Given the description of an element on the screen output the (x, y) to click on. 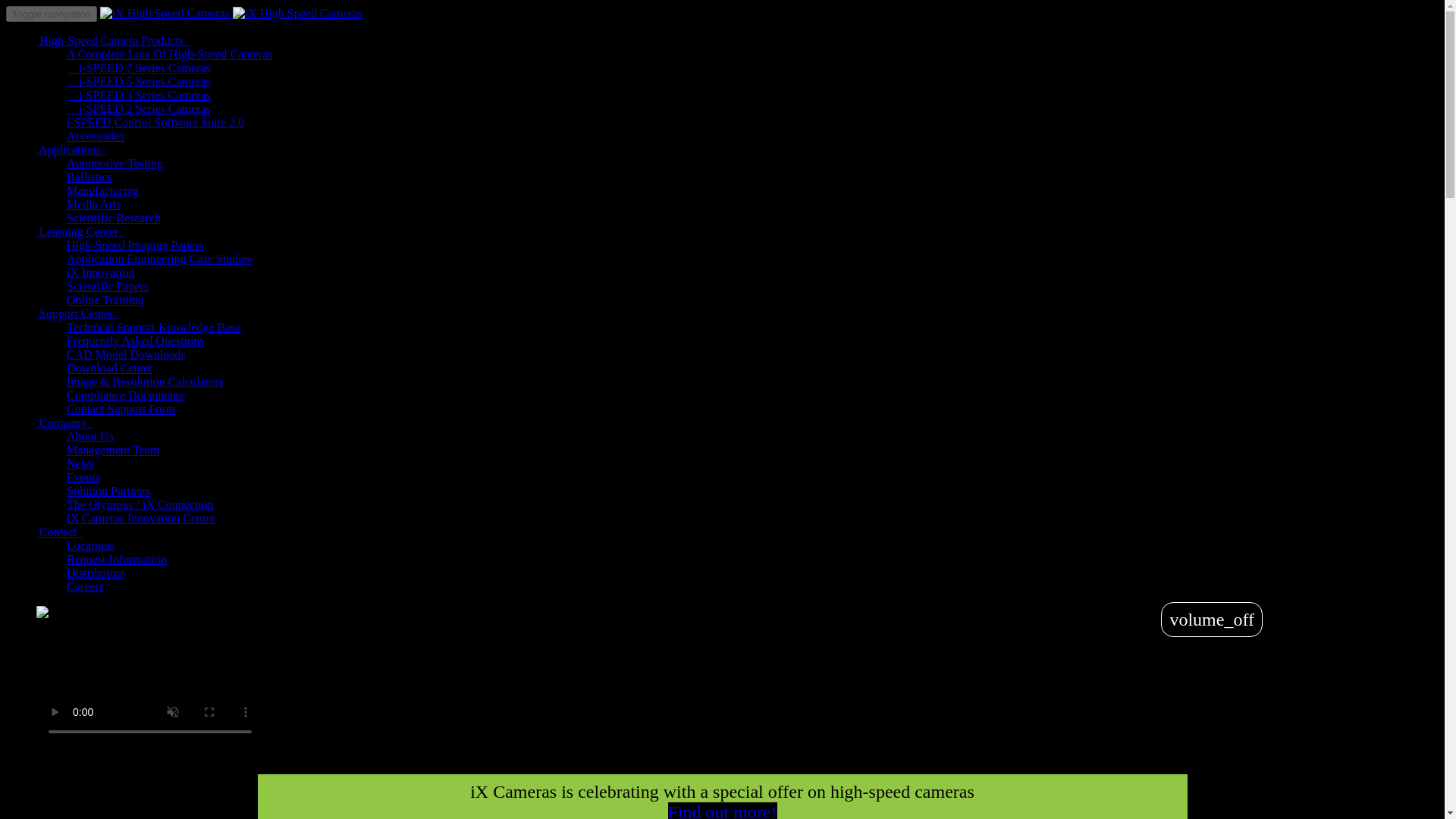
Compliance Documents (124, 395)
Scientific Research (113, 217)
iX Innovation (99, 272)
Toggle navigation (51, 13)
    i-SPEED 3 Series Cameras (138, 94)
Solution Partners (108, 490)
About Us (89, 436)
 High-Speed Camera Products   (112, 40)
News (80, 463)
Application Engineering Case Studies (158, 258)
